Given the description of an element on the screen output the (x, y) to click on. 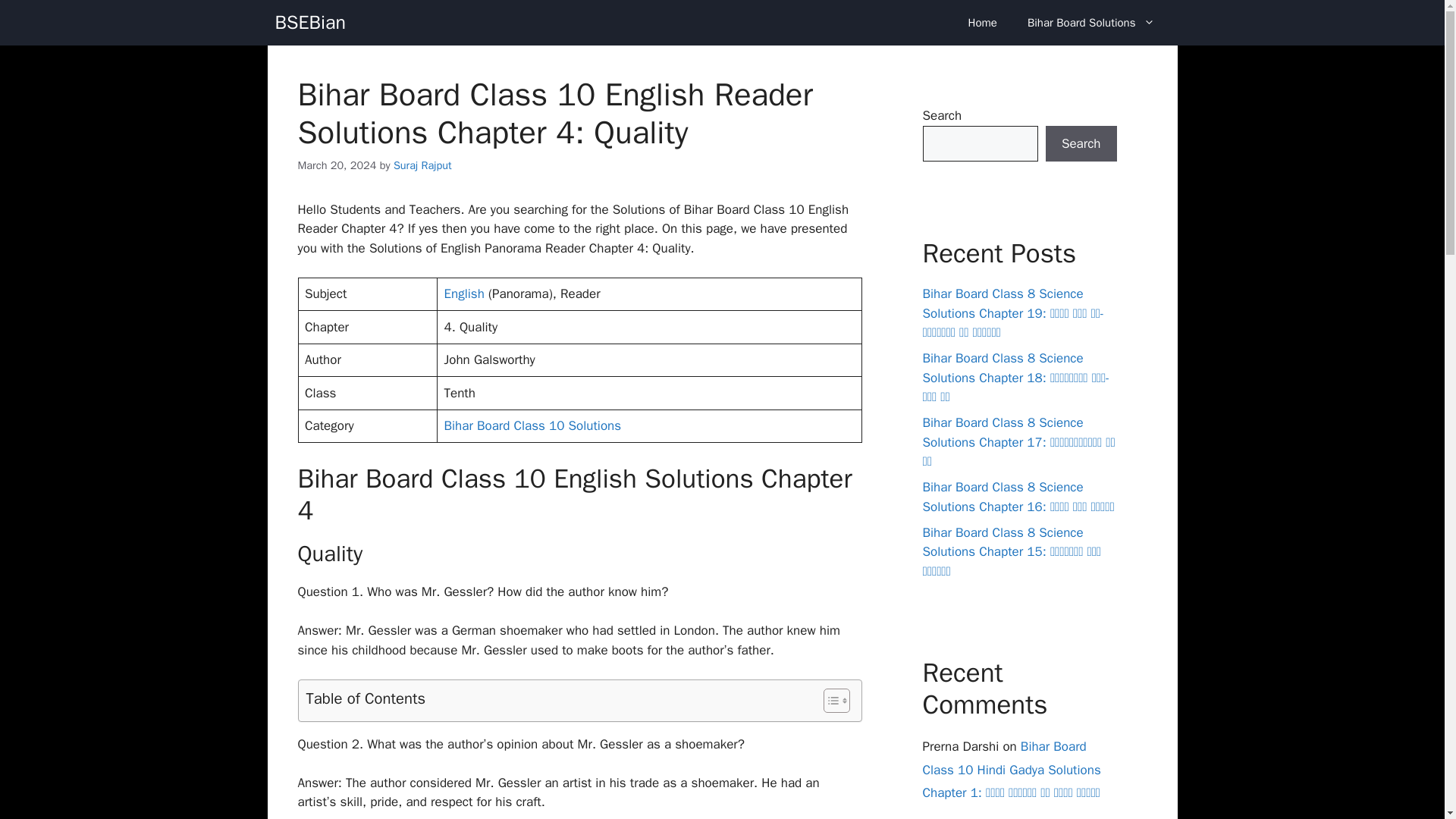
Search (1080, 144)
Home (982, 22)
BSEBian (310, 22)
English (464, 293)
Suraj Rajput (422, 164)
View all posts by Suraj Rajput (422, 164)
Bihar Board Class 10 Solutions (532, 425)
Bihar Board Solutions (1090, 22)
